Given the description of an element on the screen output the (x, y) to click on. 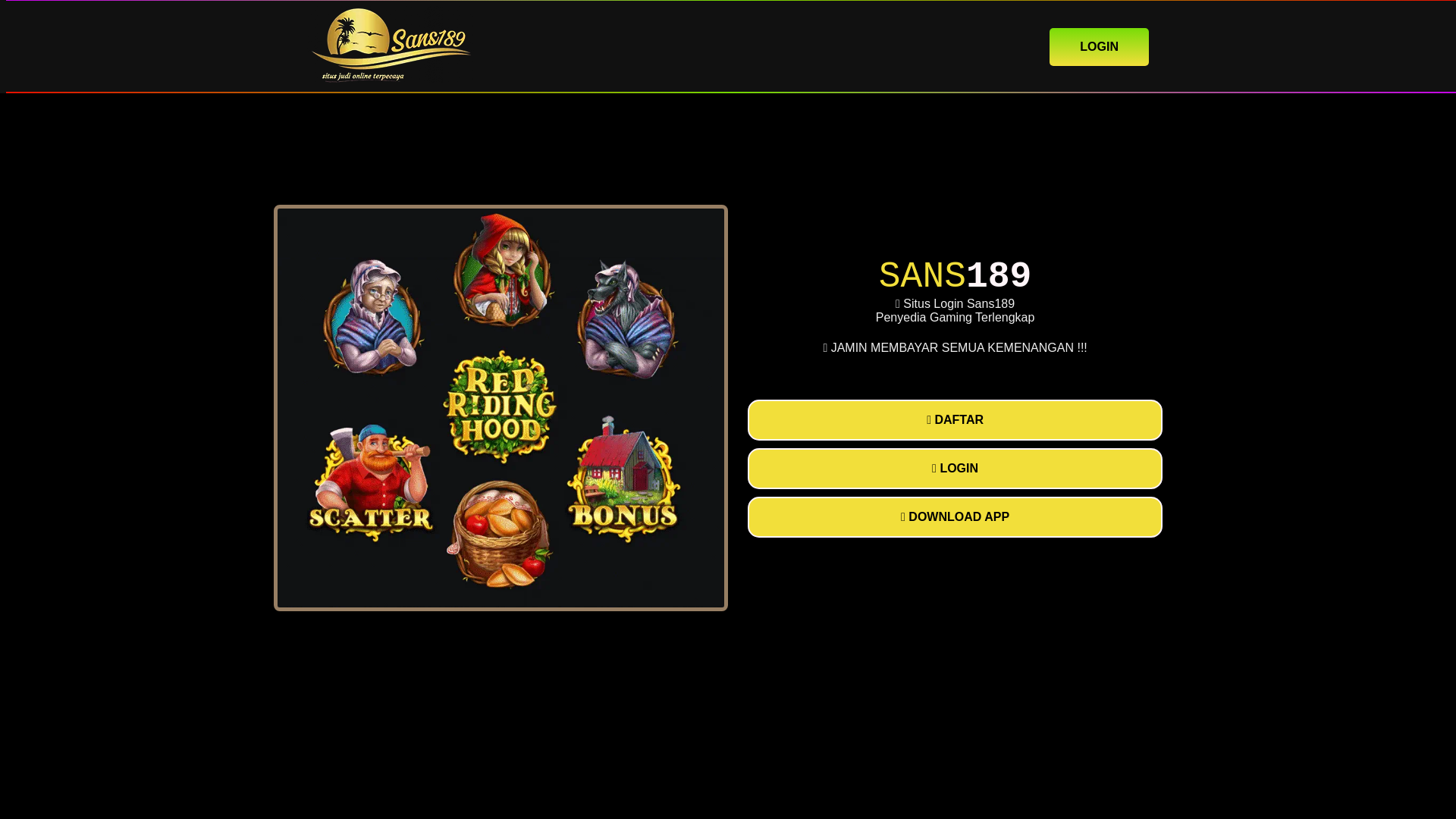
LOGIN (954, 467)
DOWNLOAD APP (954, 516)
DAFTAR (954, 419)
LOGIN (1098, 46)
